Given the description of an element on the screen output the (x, y) to click on. 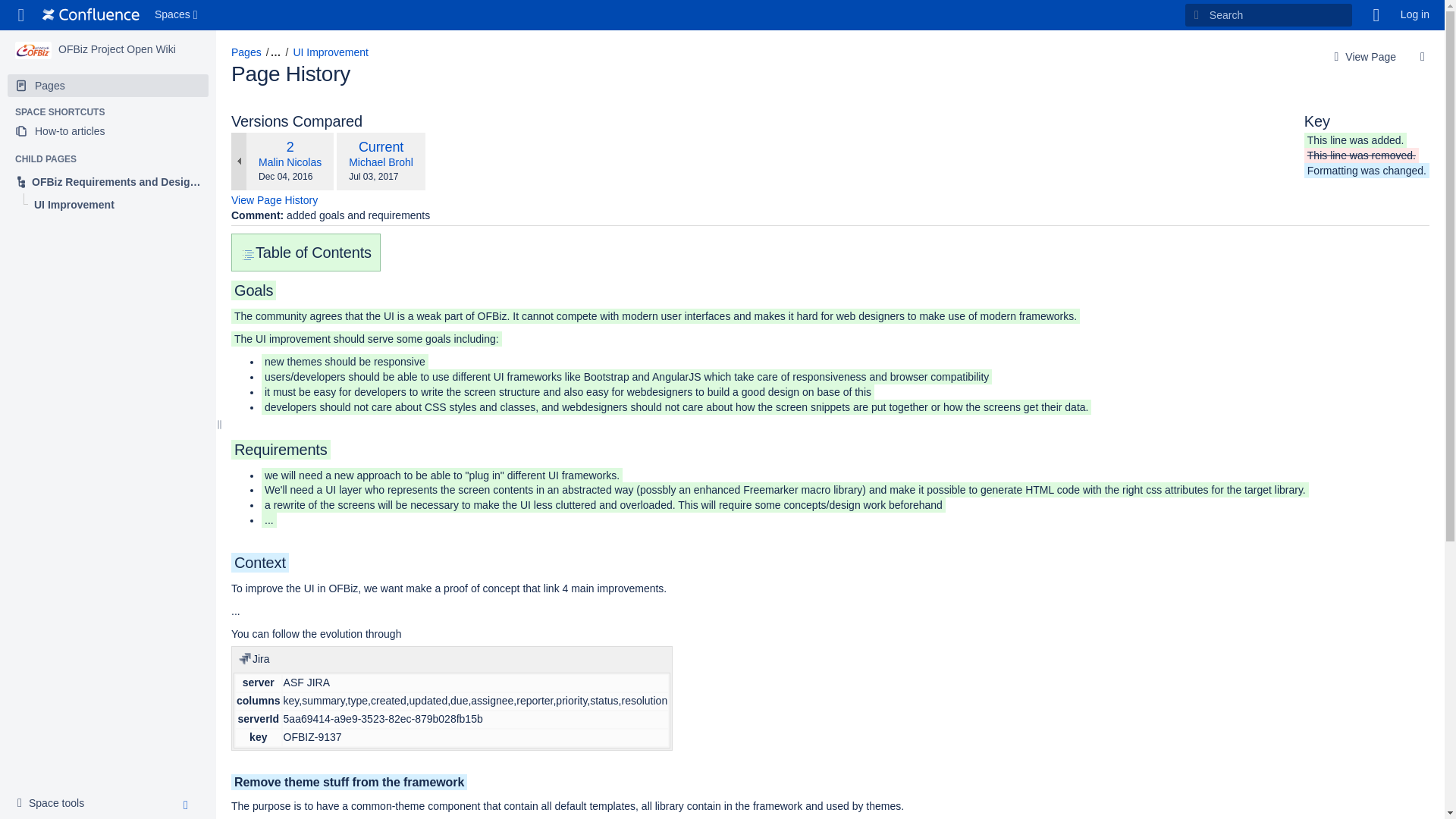
Help (1376, 15)
UI Improvement (330, 51)
OFBiz Project Open Wiki (117, 49)
Linked Applications (20, 15)
OFBiz Requirements and Design Proposals (107, 180)
Apache Software Foundation (90, 15)
Pages (246, 51)
View Page (1363, 56)
OFBiz Project Open Wiki (117, 49)
